Given the description of an element on the screen output the (x, y) to click on. 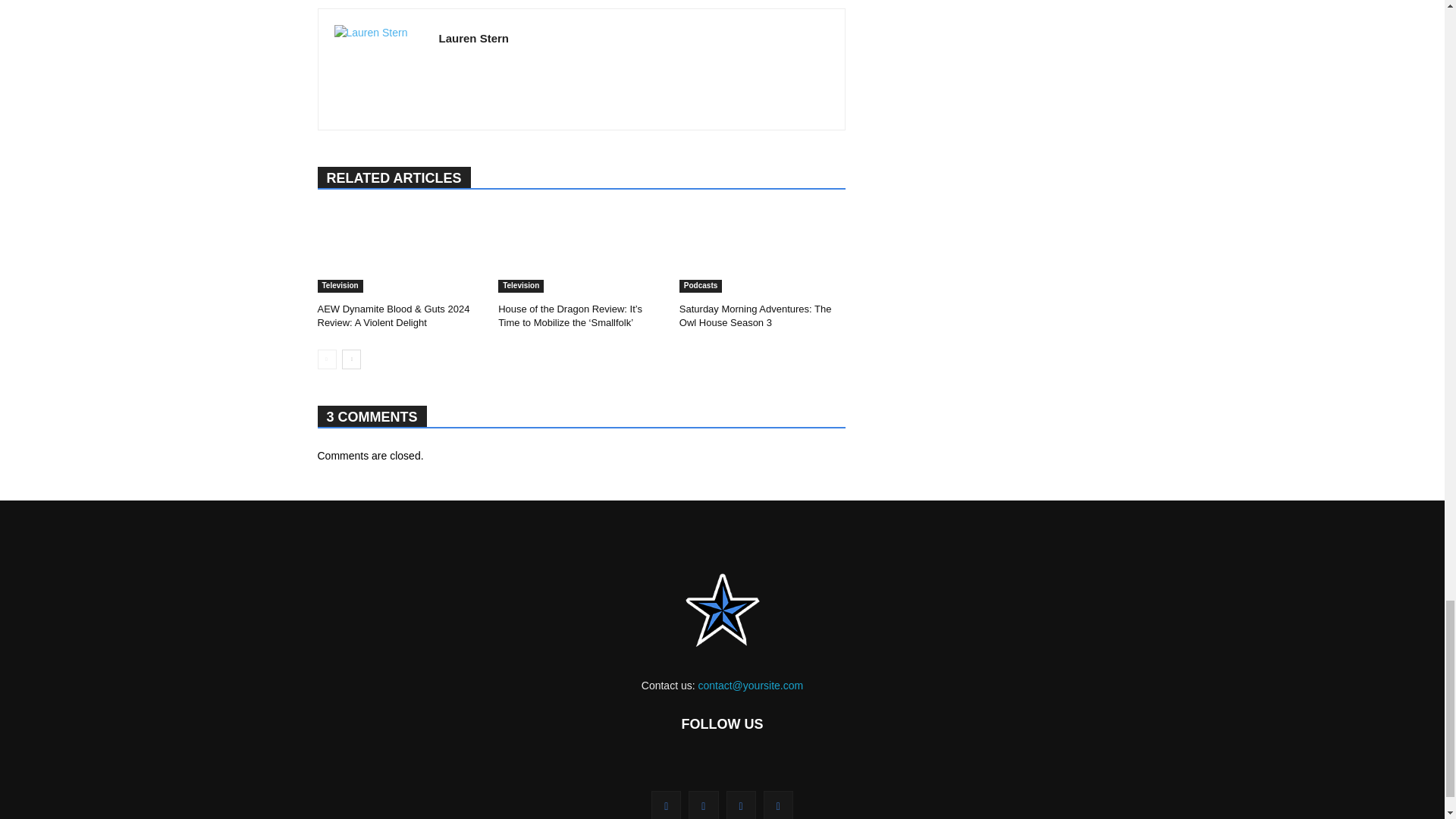
Lauren Stern (377, 69)
